Given the description of an element on the screen output the (x, y) to click on. 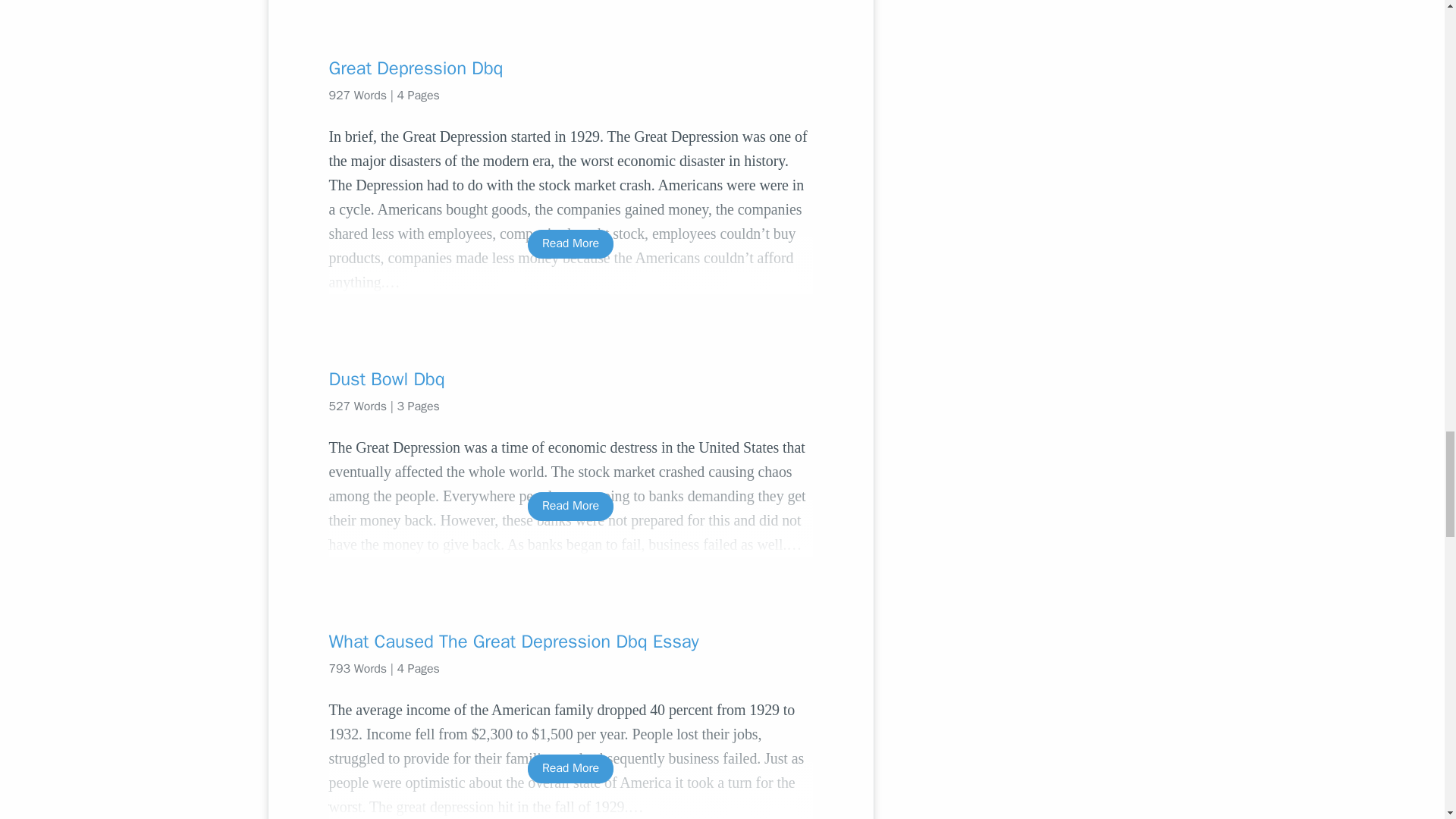
Dust Bowl Dbq (570, 378)
Read More (569, 243)
What Caused The Great Depression Dbq Essay (570, 641)
Read More (569, 506)
Read More (569, 768)
Great Depression Dbq (570, 68)
